Given the description of an element on the screen output the (x, y) to click on. 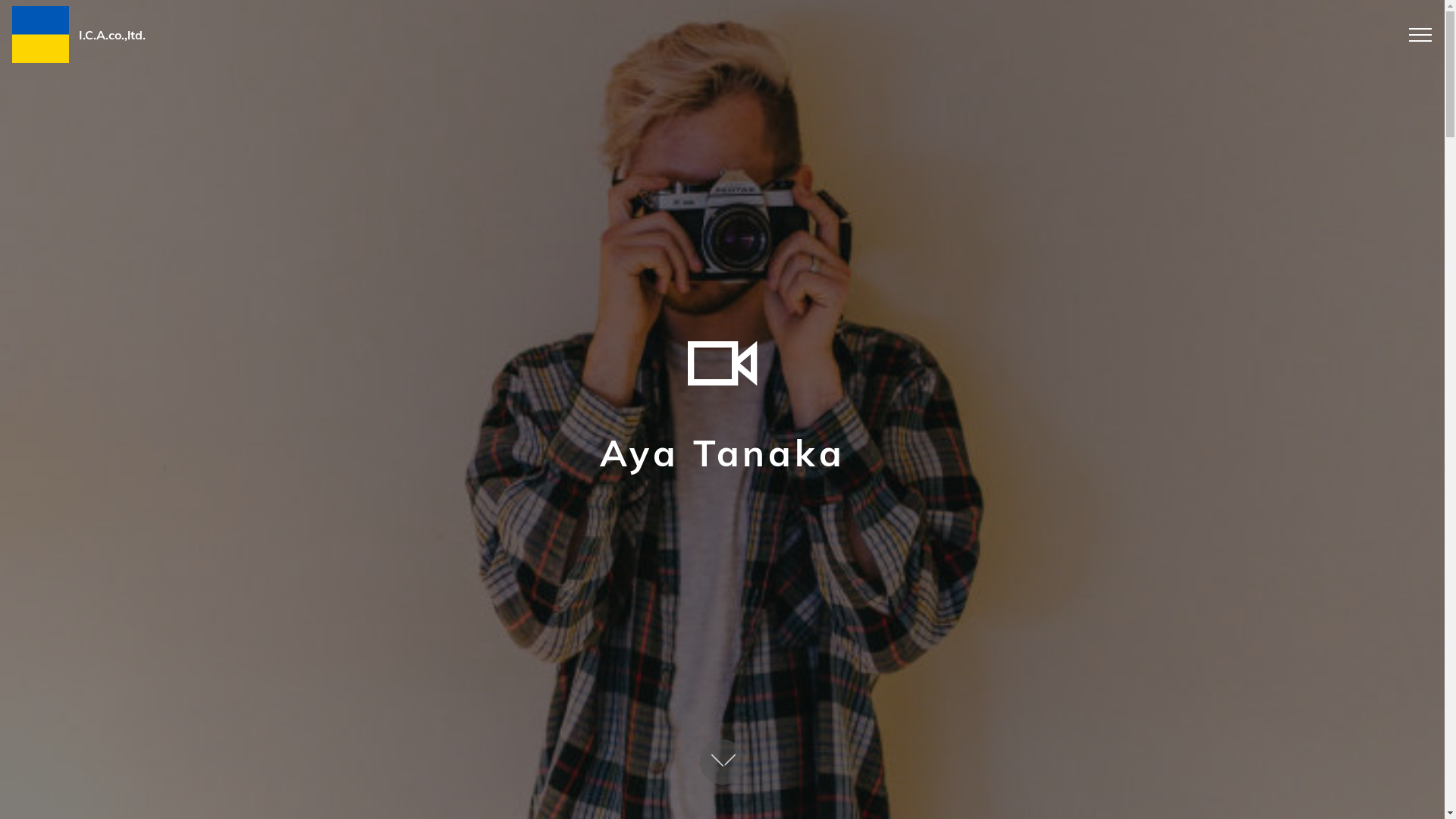
I.C.A.co.,ltd. Element type: text (111, 34)
